Given the description of an element on the screen output the (x, y) to click on. 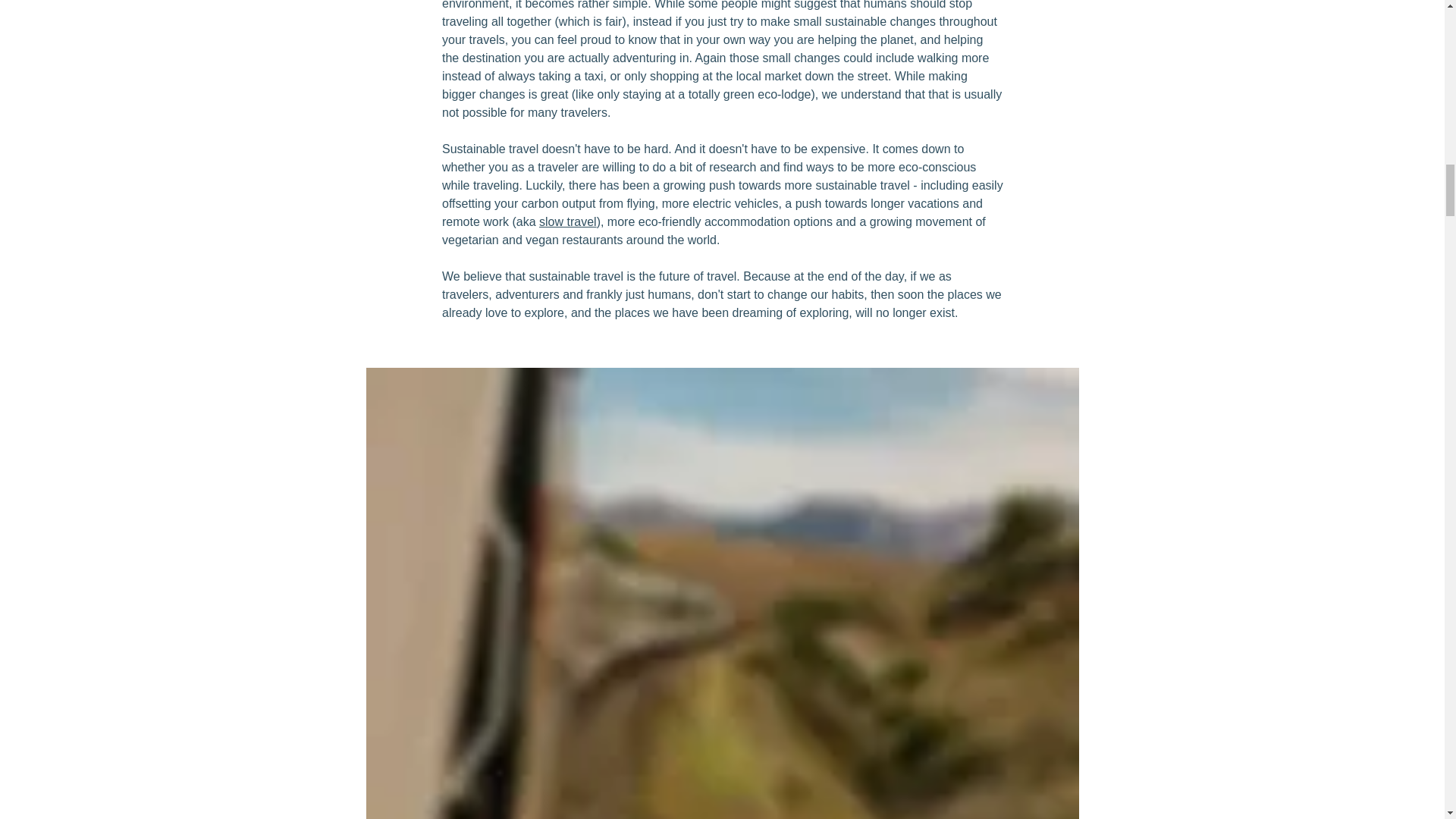
slow travel (567, 221)
